Given the description of an element on the screen output the (x, y) to click on. 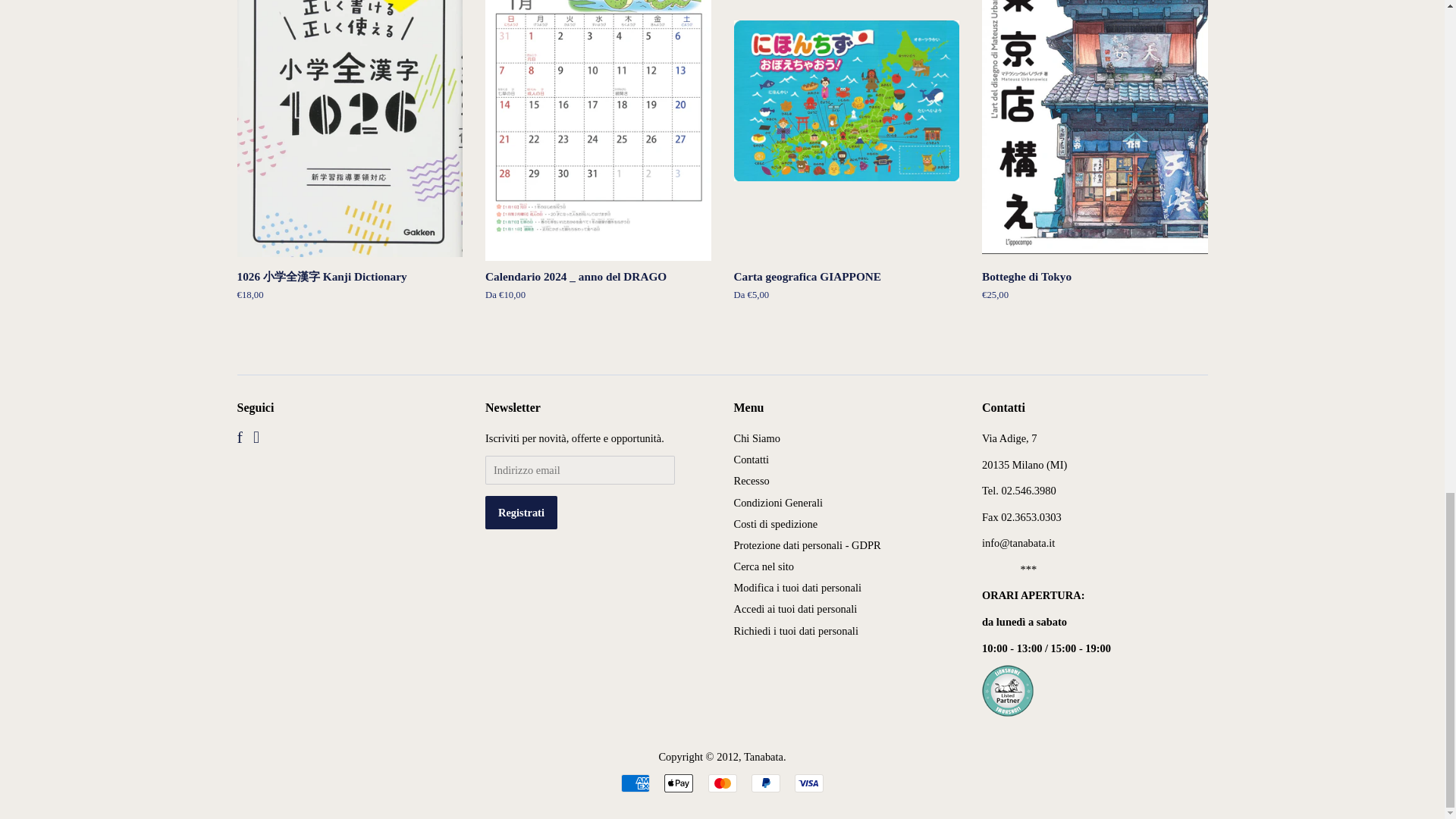
Recesso (751, 480)
Apple Pay (678, 782)
Chi Siamo (756, 438)
Contatti (751, 459)
American Express (635, 782)
Registrati (520, 512)
Registrati (520, 512)
PayPal (765, 782)
Visa (809, 782)
Mastercard (721, 782)
